Given the description of an element on the screen output the (x, y) to click on. 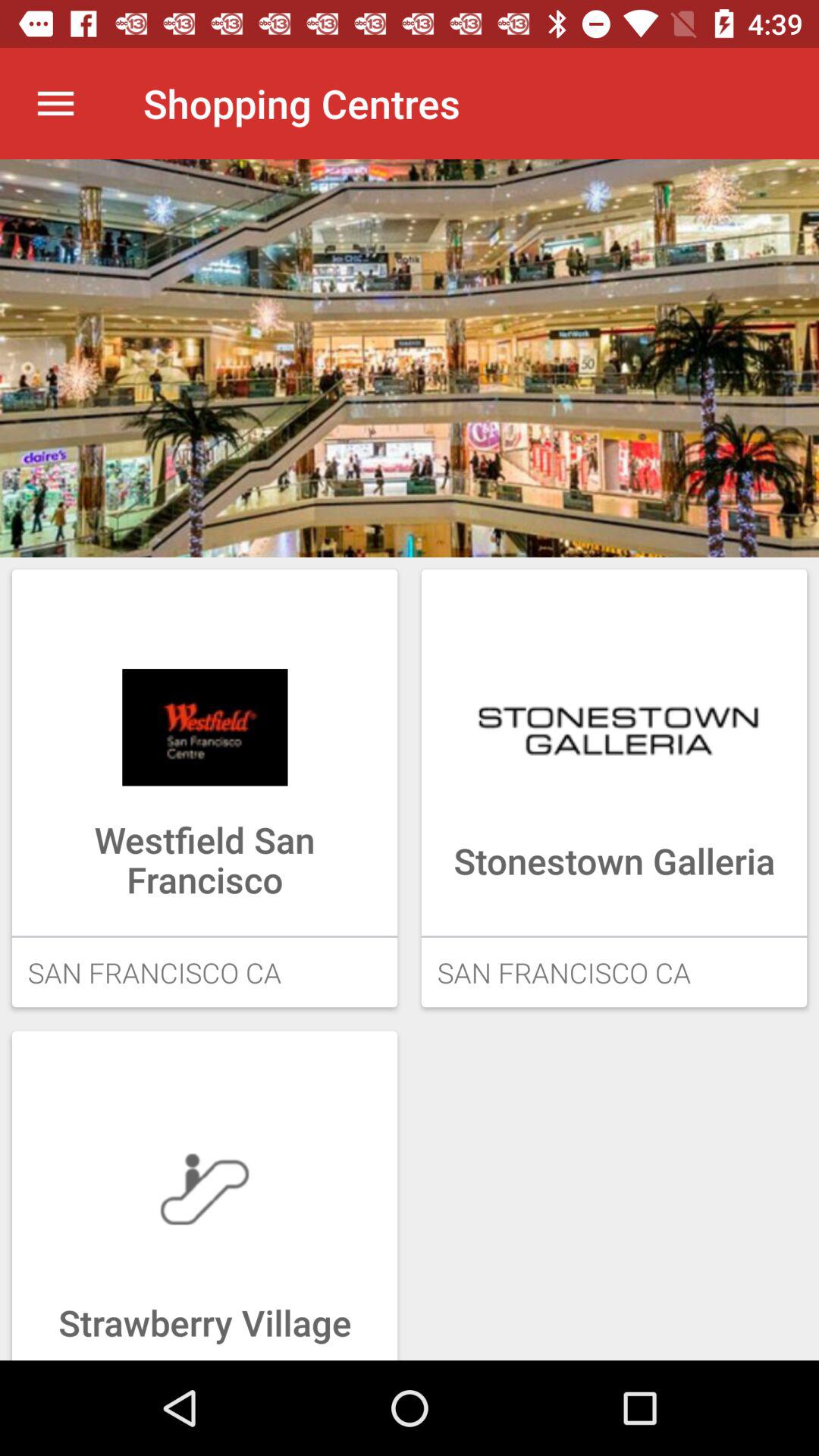
click on icon above westfield san francisco (204, 727)
click on the option having the text stonestown galleria (613, 788)
select the image above the button strawberry village on the web page (204, 1189)
select the image above the button stone town galleria on the web page (614, 727)
